Given the description of an element on the screen output the (x, y) to click on. 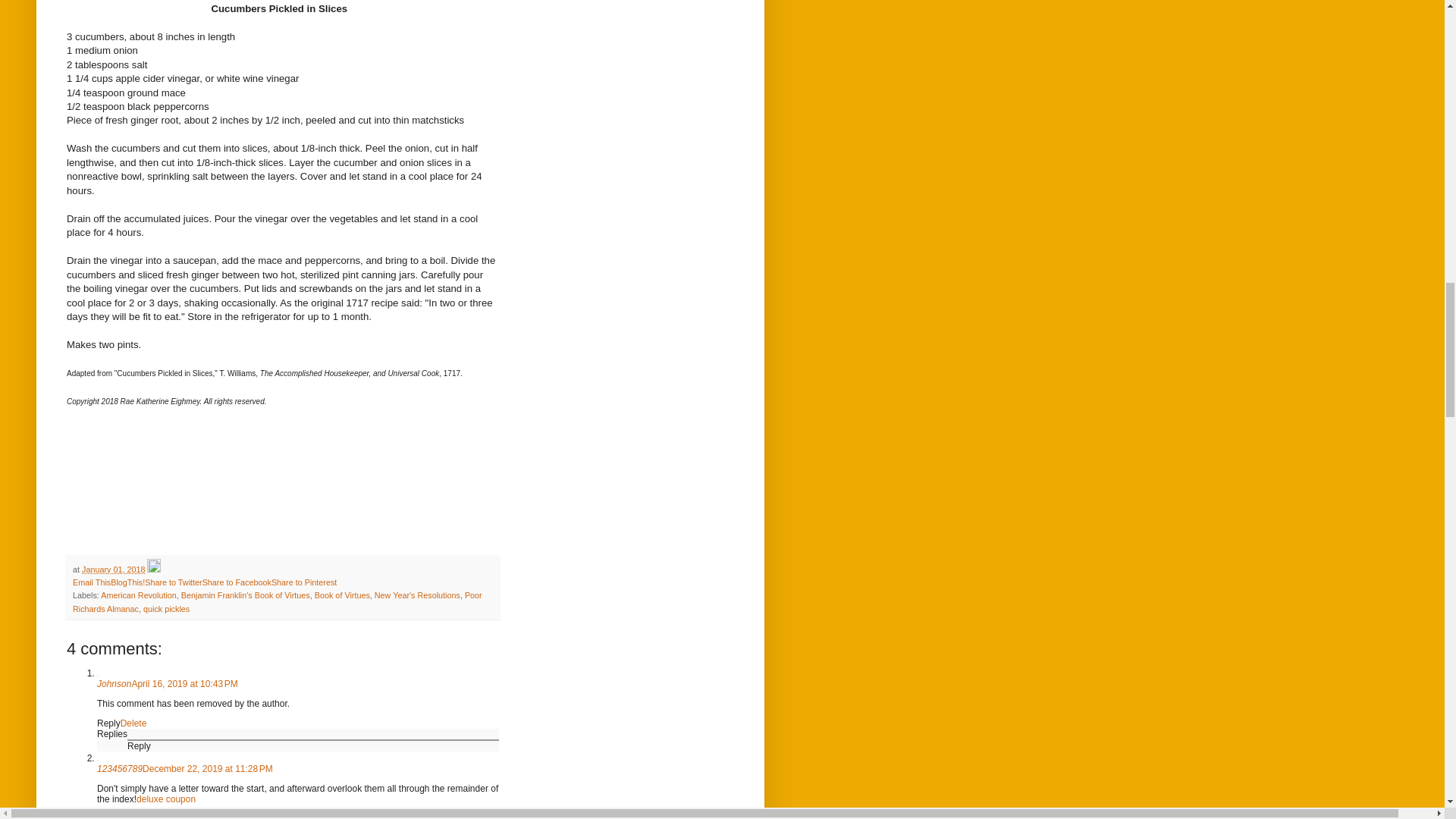
Share to Twitter (173, 582)
permanent link (112, 569)
quick pickles (165, 608)
Book of Virtues (341, 594)
January 01, 2018 (112, 569)
Poor Richards Almanac (276, 601)
BlogThis! (127, 582)
Edit Post (153, 569)
American Revolution (138, 594)
Delete (133, 723)
Email This (91, 582)
Reply (108, 816)
Share to Facebook (236, 582)
Benjamin Franklin's Book of Virtues (245, 594)
